Given the description of an element on the screen output the (x, y) to click on. 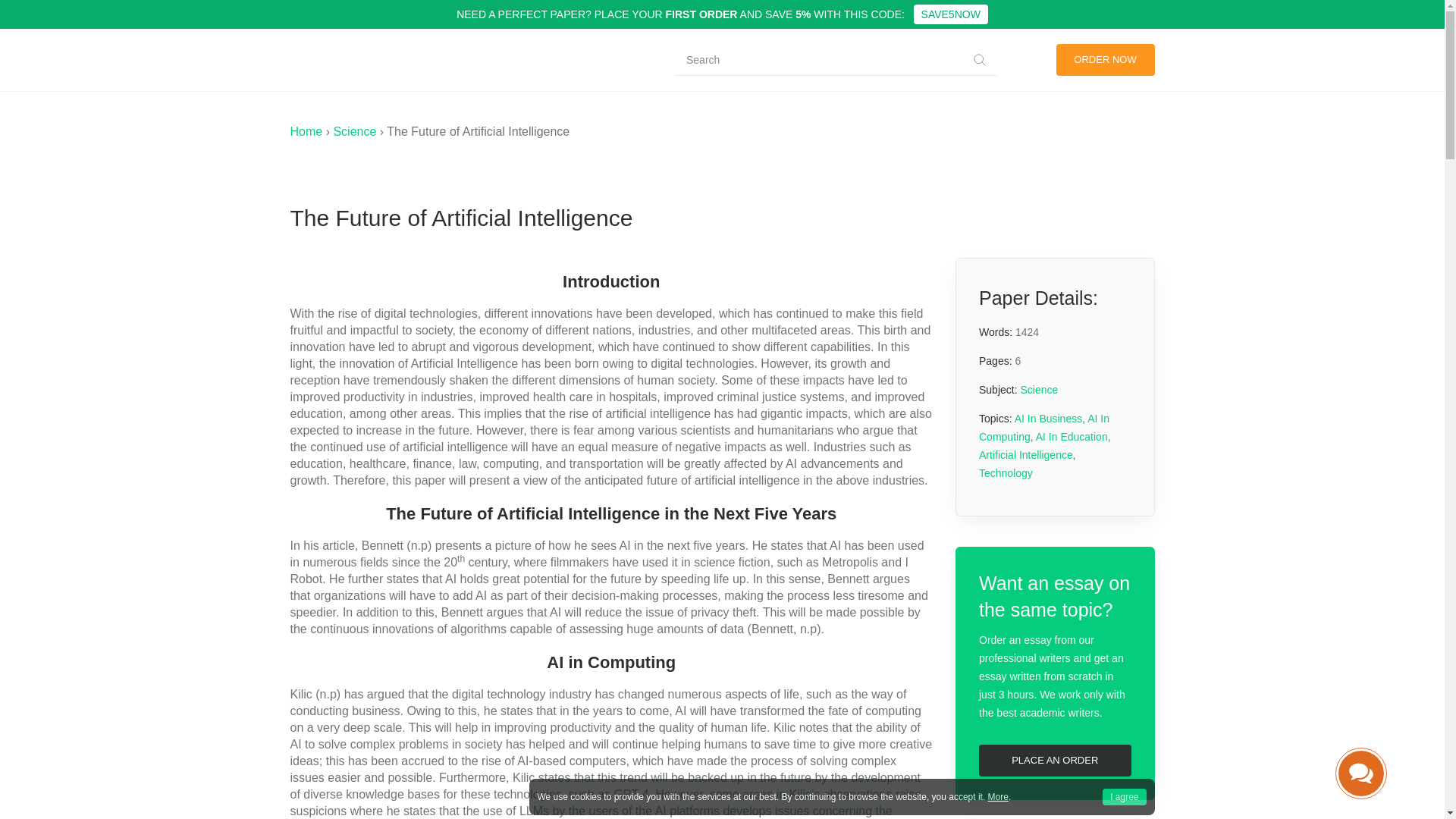
Science (1039, 389)
I agree (1123, 796)
Artificial Intelligence (1025, 454)
ORDER NOW (1104, 60)
SAVE5NOW (951, 14)
AI In Computing (1043, 427)
Technology (1005, 472)
Science (354, 131)
PLACE AN ORDER (1054, 760)
Home (305, 131)
